Given the description of an element on the screen output the (x, y) to click on. 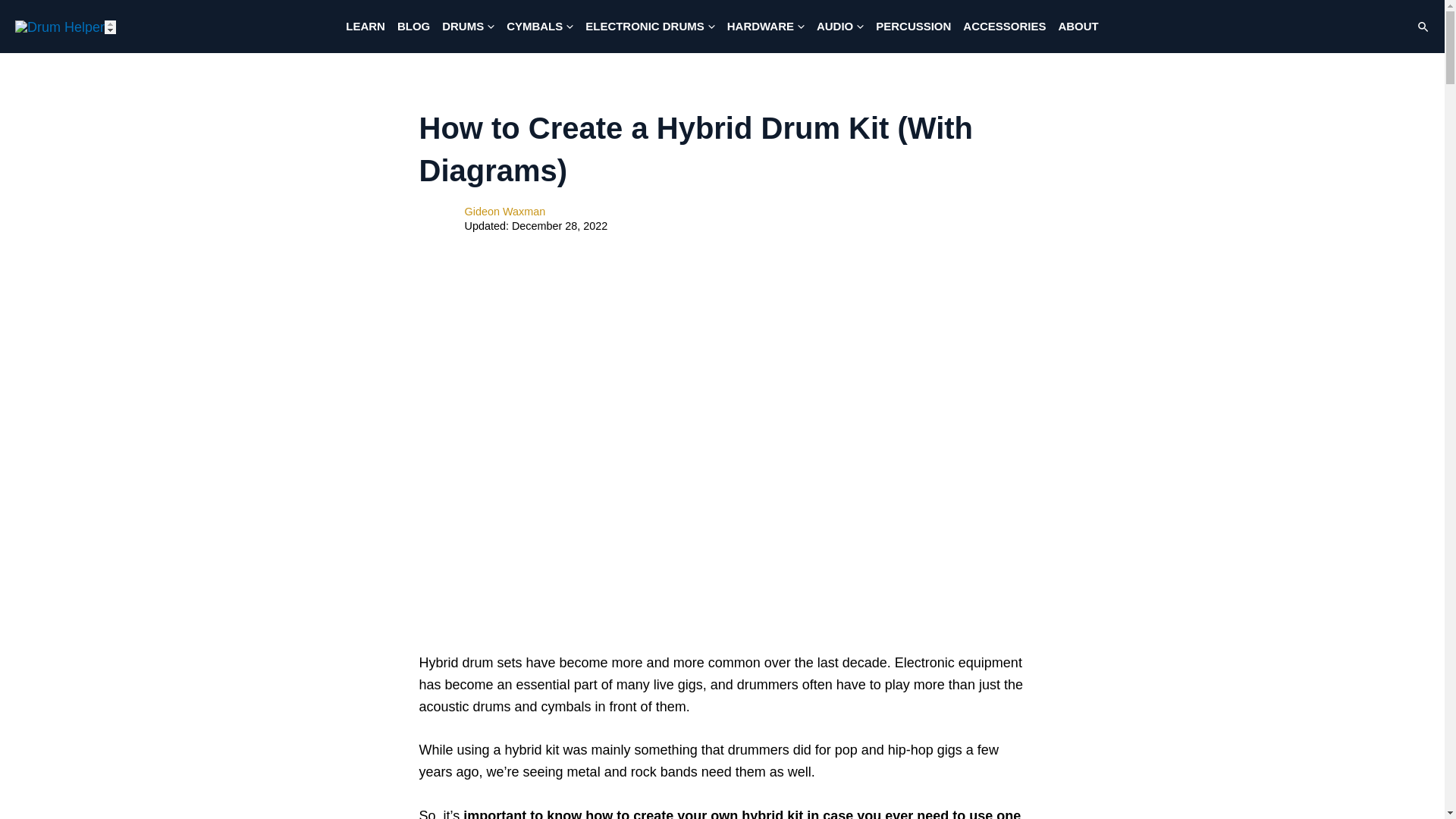
HARDWARE (765, 26)
LEARN (365, 26)
ELECTRONIC DRUMS (649, 26)
CYMBALS (539, 26)
DRUMS (467, 26)
